Given the description of an element on the screen output the (x, y) to click on. 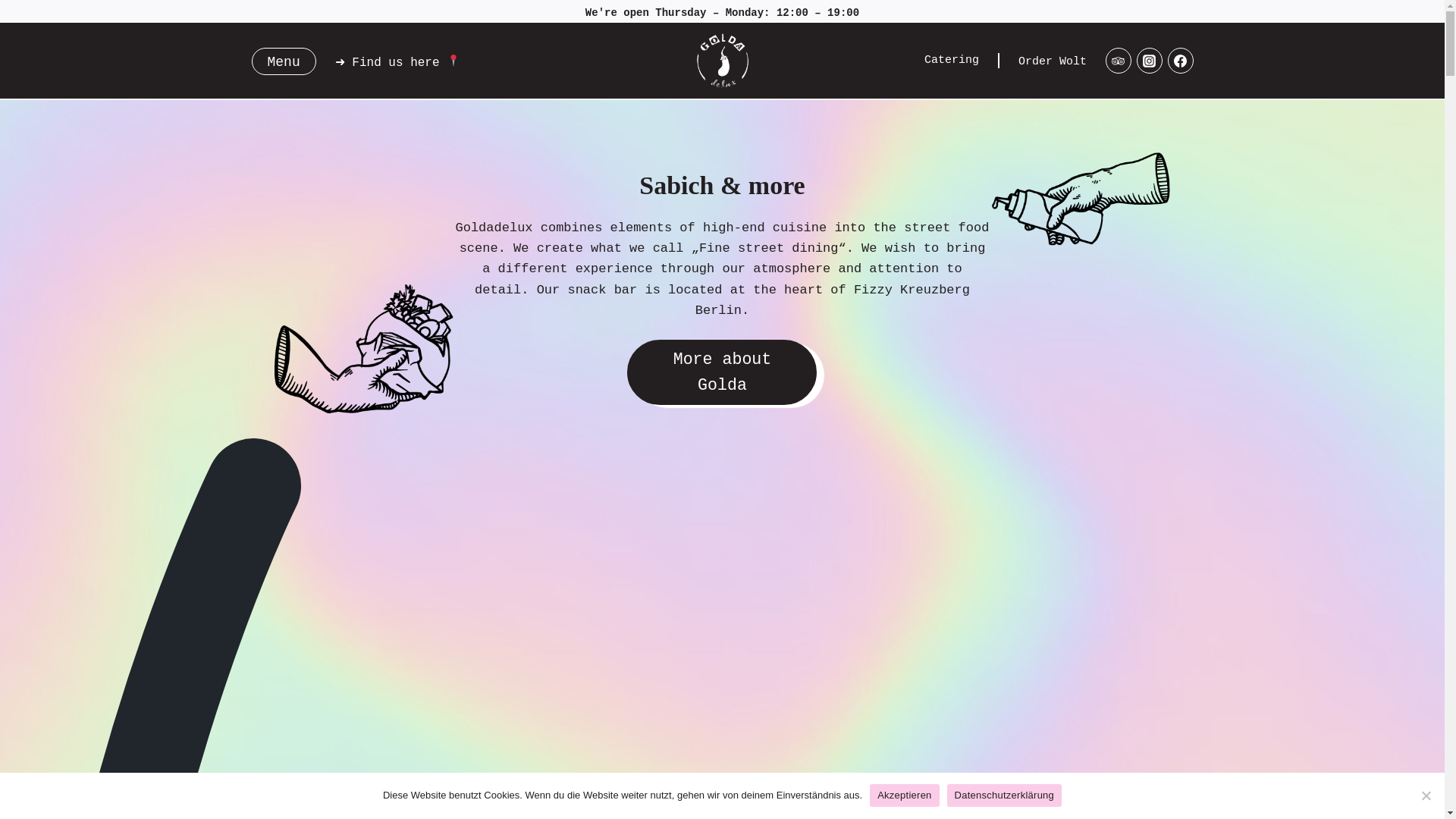
More about Golda (721, 371)
Nein (1425, 795)
Find us here (406, 62)
Order Wolt (1052, 62)
Menu (283, 61)
Akzeptieren (904, 794)
Catering (951, 60)
